Given the description of an element on the screen output the (x, y) to click on. 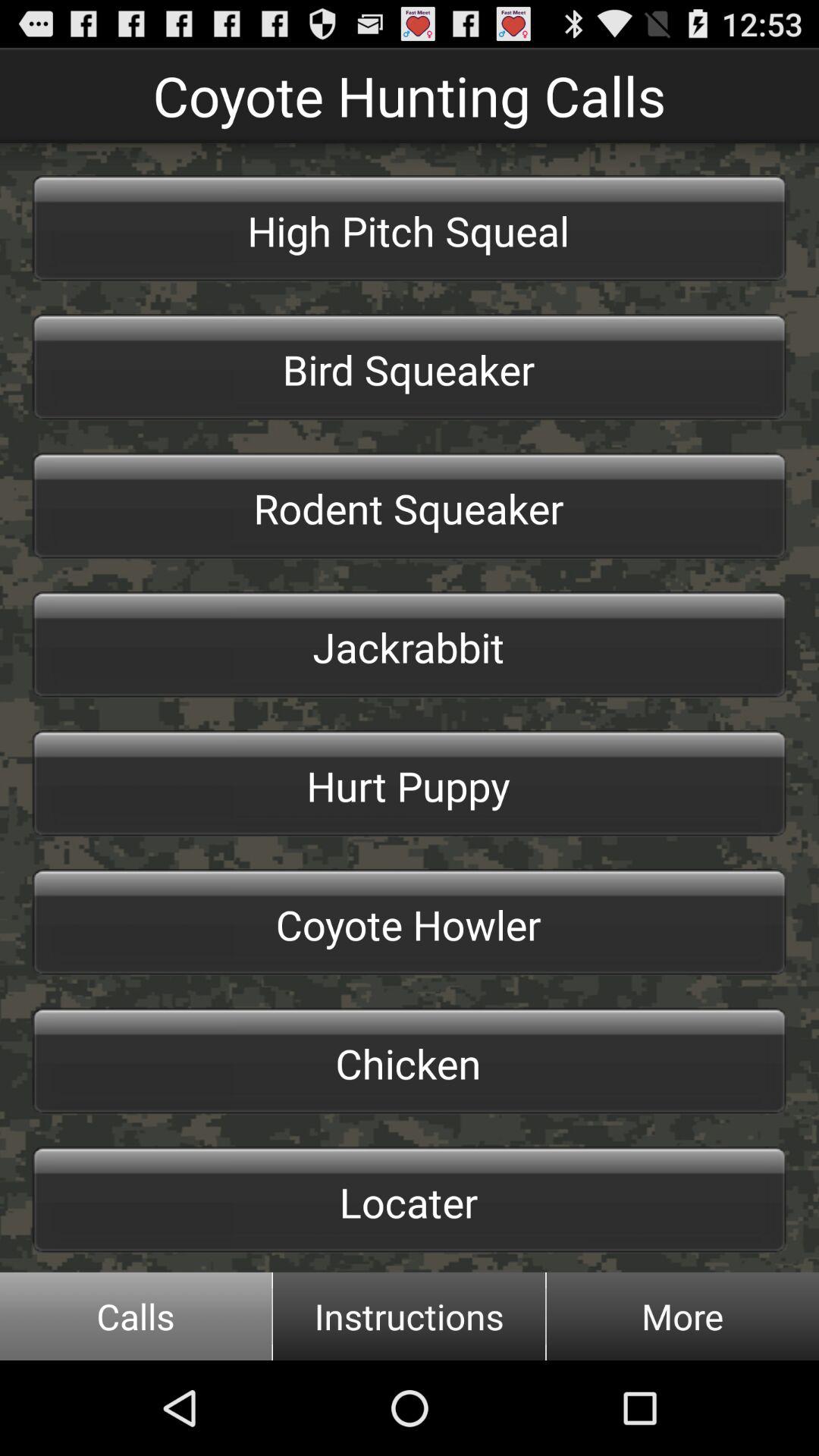
launch the icon below the hurt puppy icon (409, 922)
